Given the description of an element on the screen output the (x, y) to click on. 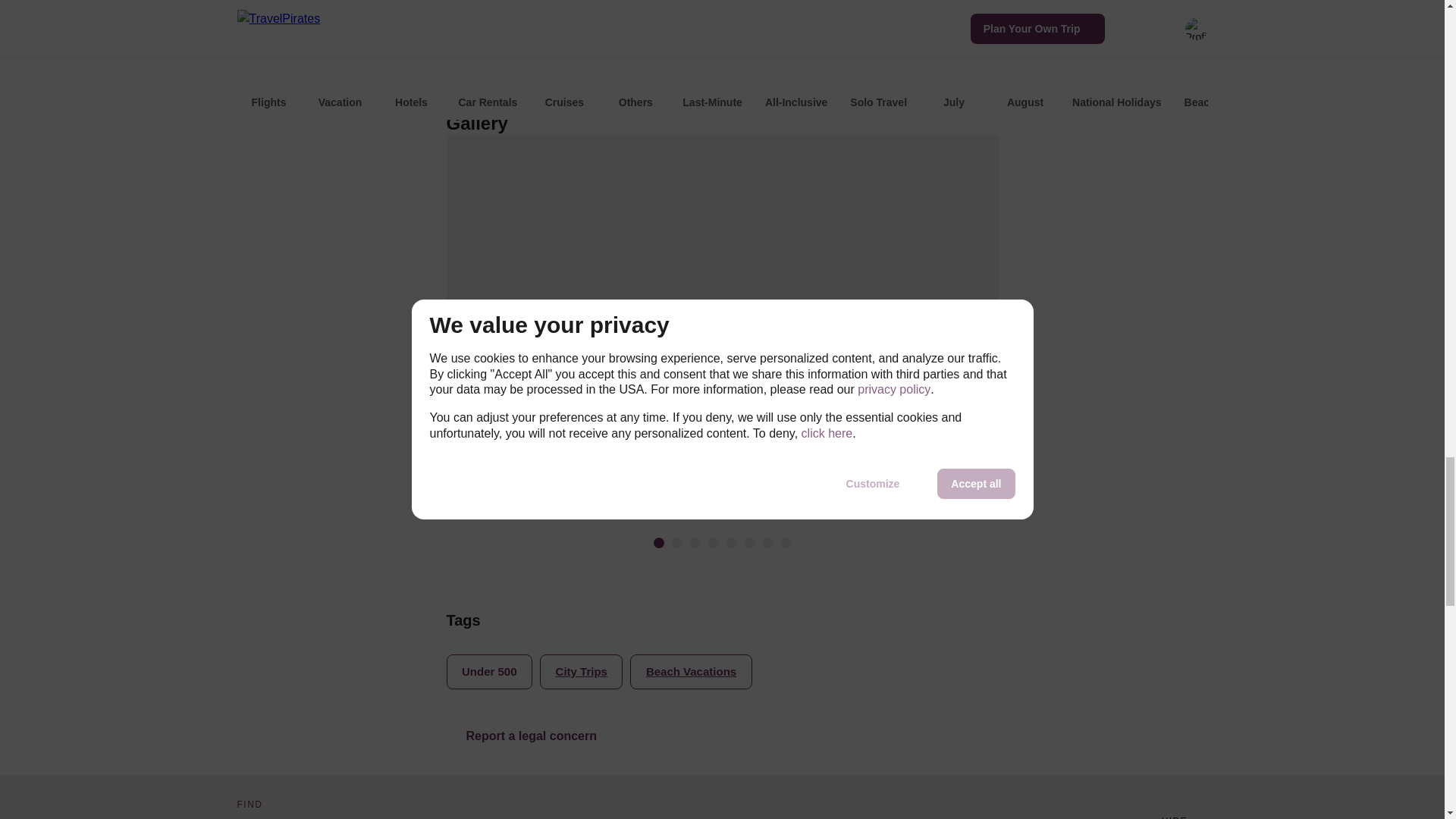
Image-7 (767, 542)
Image-3 (695, 542)
Image-6 (749, 542)
Image-5 (731, 542)
Image-4 (713, 542)
Image-2 (676, 542)
Image-1 (658, 542)
Image-8 (786, 542)
